Given the description of an element on the screen output the (x, y) to click on. 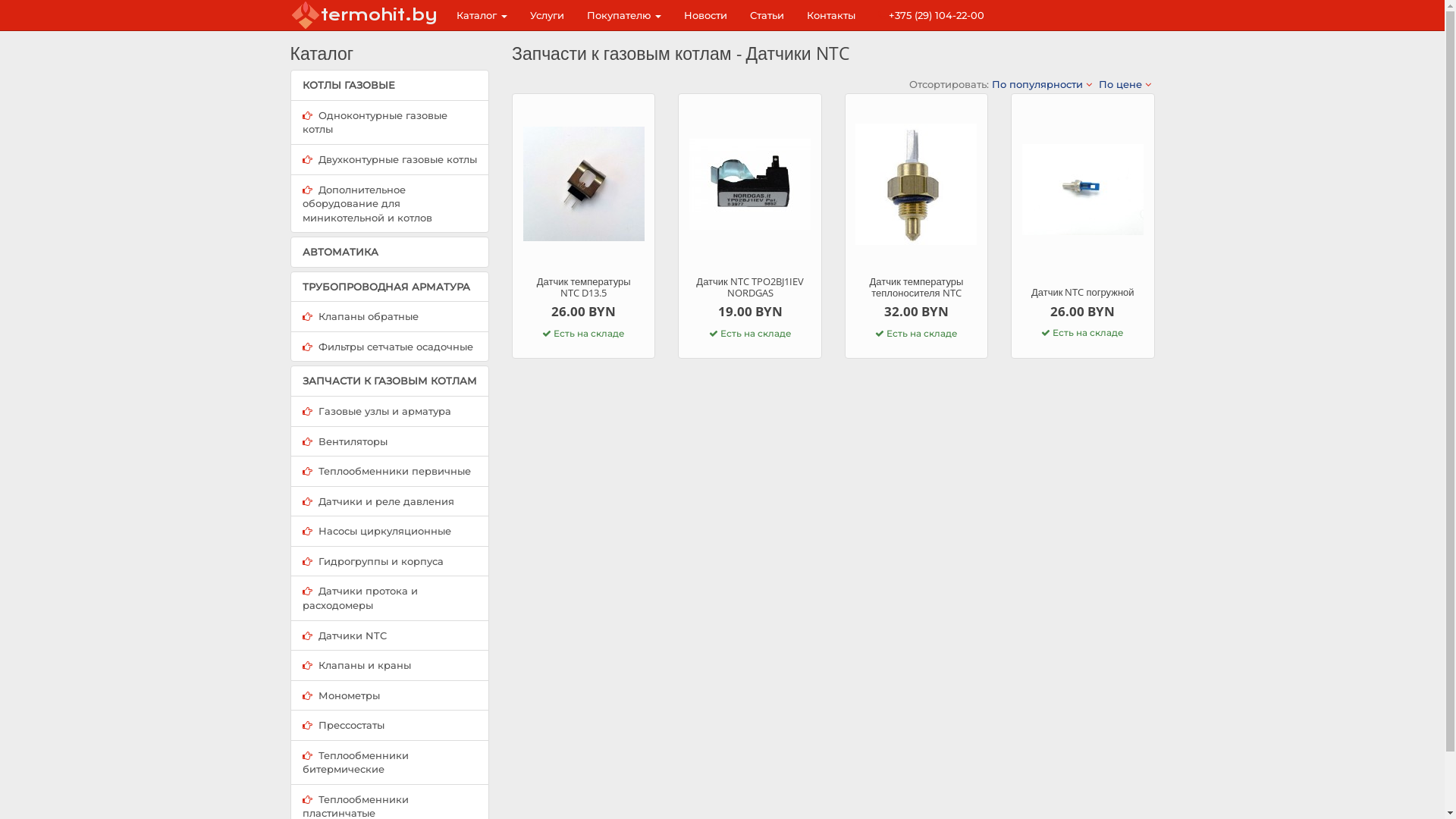
+375 (29) 104-22-00 Element type: text (930, 15)
termohit.by Element type: text (362, 15)
